Given the description of an element on the screen output the (x, y) to click on. 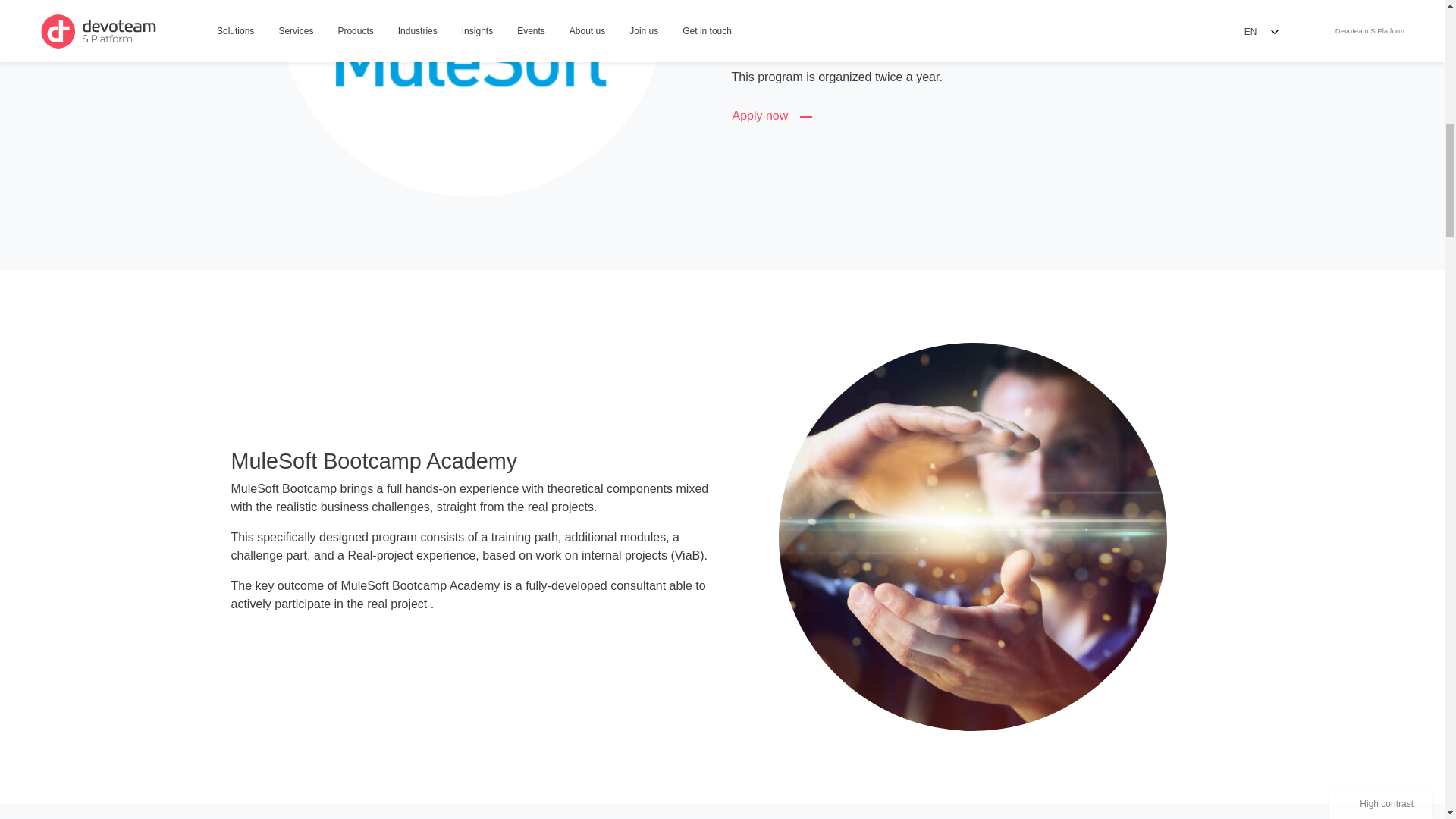
Apply now (774, 116)
